Given the description of an element on the screen output the (x, y) to click on. 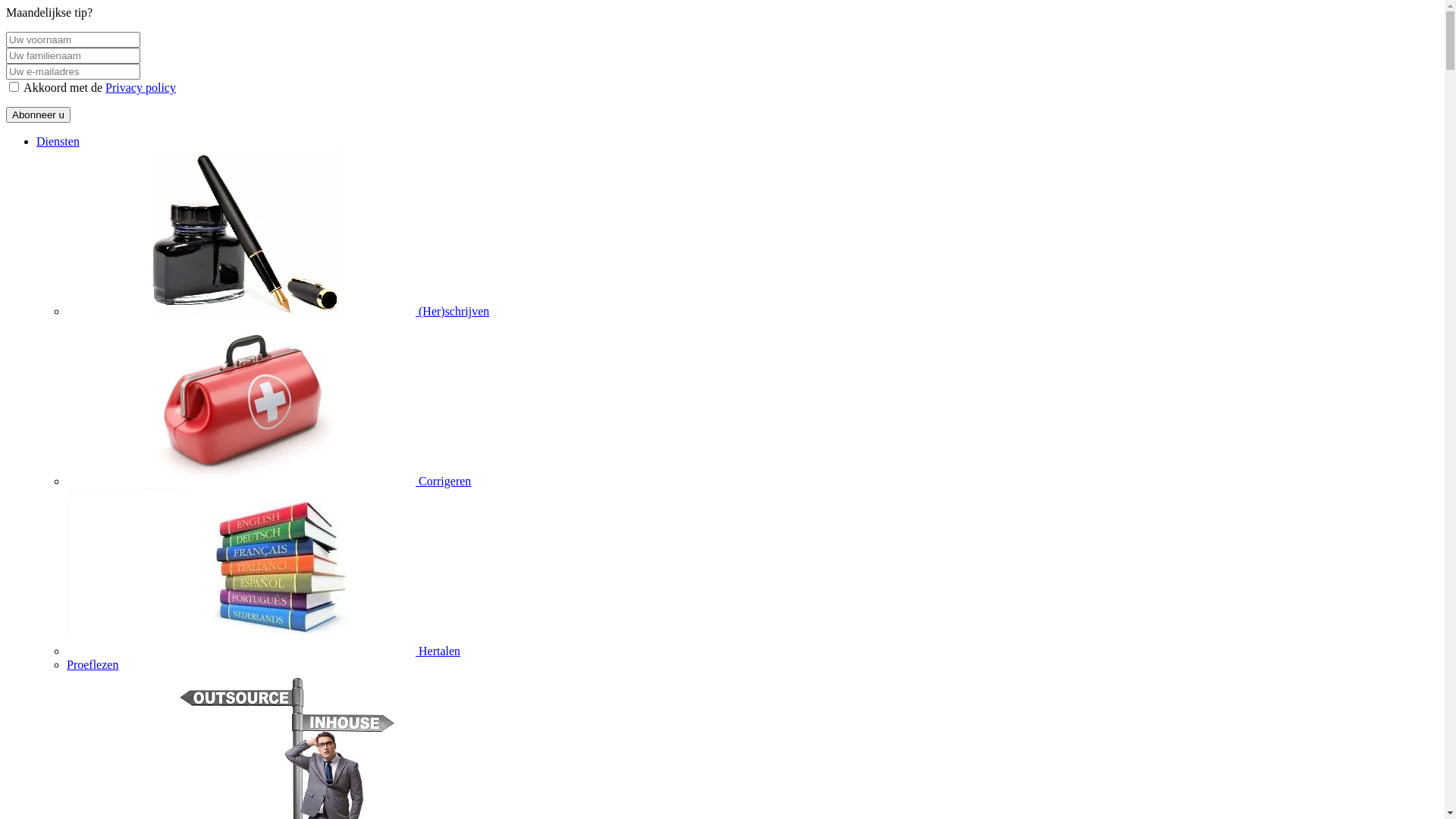
Privacy policy Element type: text (140, 87)
Voorwaarden Element type: hover (13, 86)
Diensten Element type: text (57, 140)
Proeflezen Element type: text (92, 664)
(Her)schrijven Element type: text (277, 310)
Corrigeren Element type: text (268, 480)
Hertalen Element type: text (263, 650)
Abonneer u Element type: text (38, 114)
